Given the description of an element on the screen output the (x, y) to click on. 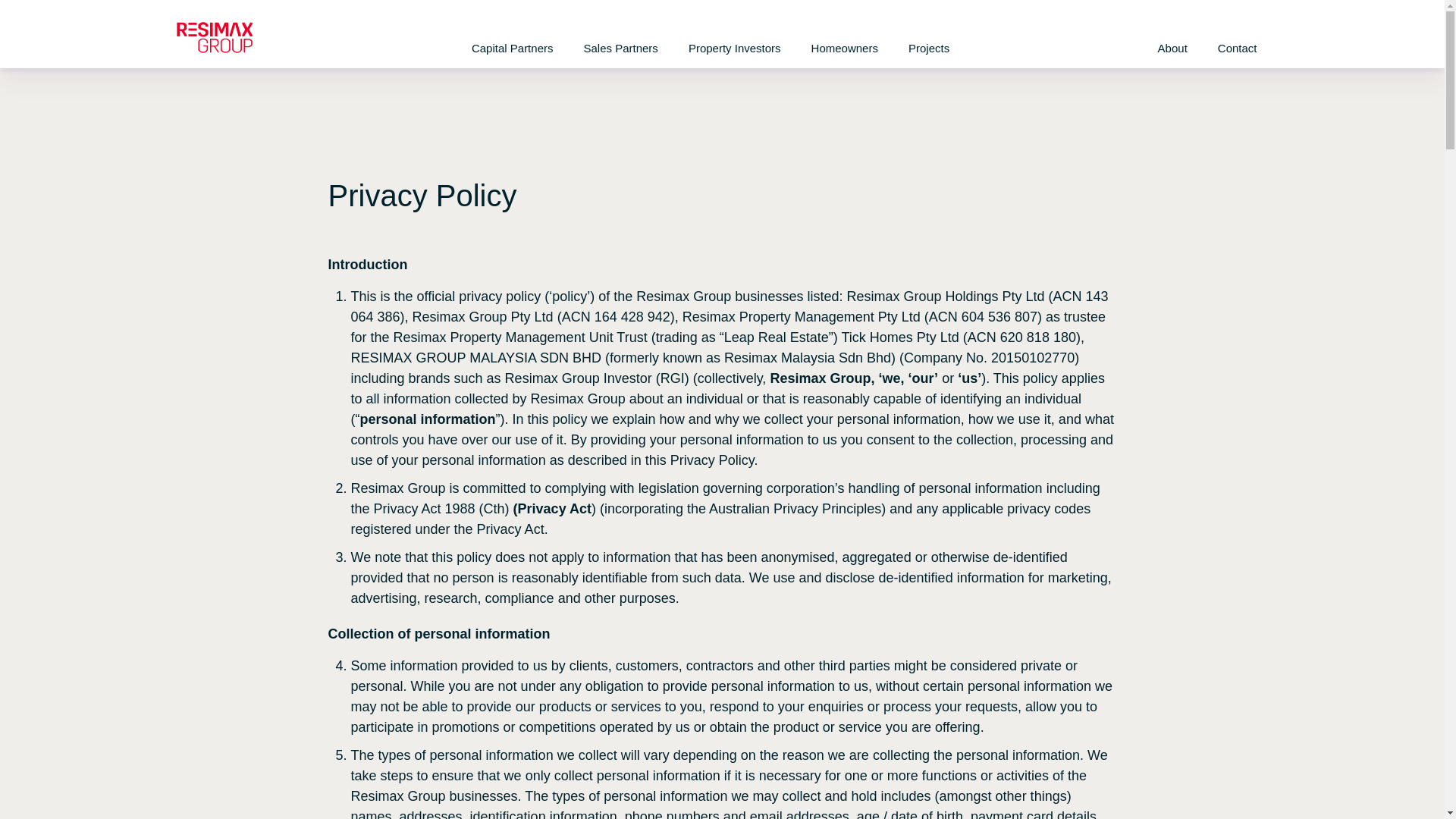
Projects (928, 48)
Contact (1237, 48)
Sales Partners (620, 48)
Homeowners (844, 48)
About (1172, 48)
Property Investors (734, 48)
Capital Partners (512, 48)
